Given the description of an element on the screen output the (x, y) to click on. 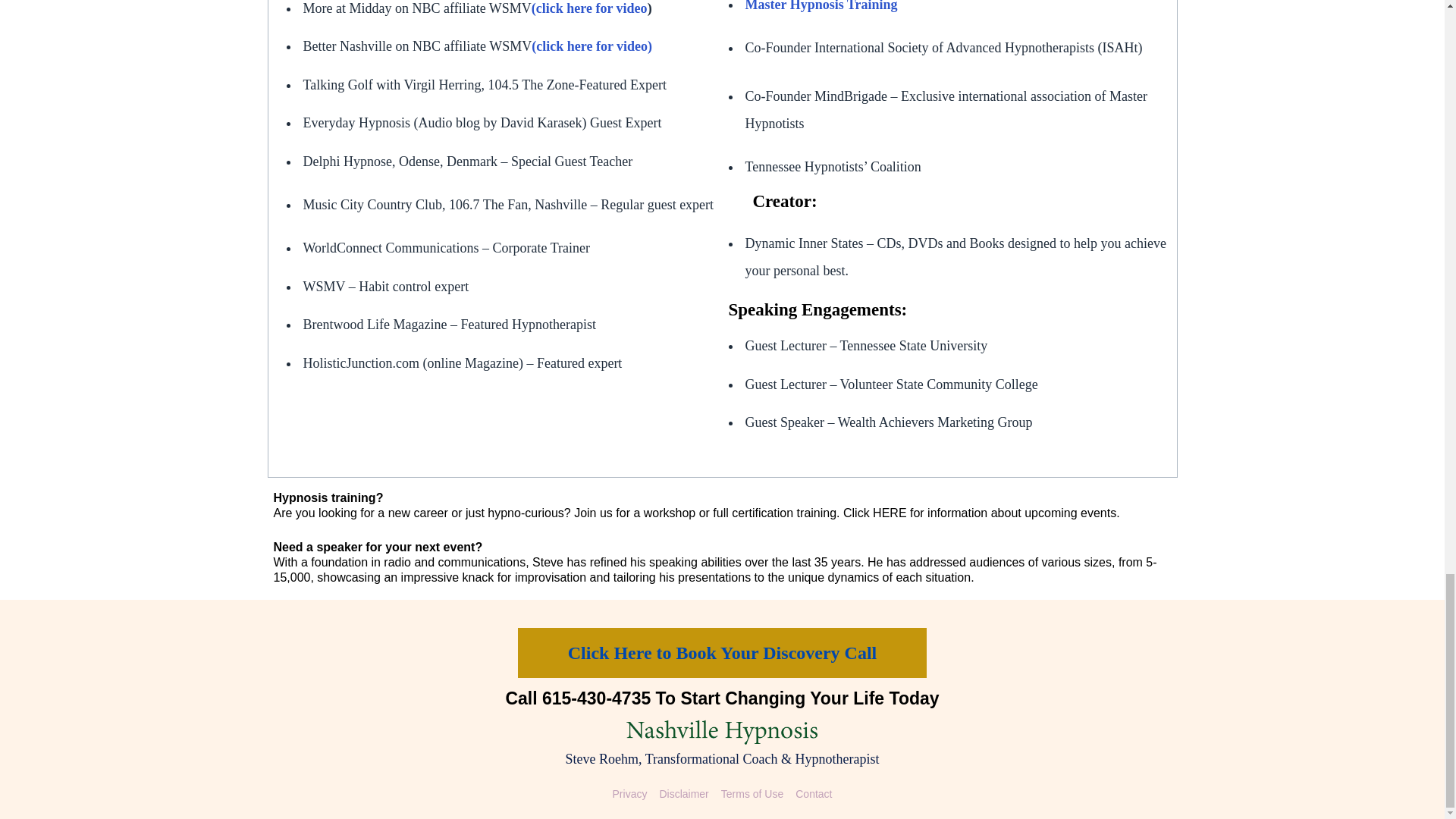
Disclaimer (683, 794)
Contact (813, 794)
Master Hypnosis Training (820, 6)
Privacy (630, 794)
Terms of Use (751, 794)
Click Here to Book Your Discovery Call (722, 653)
HERE (888, 512)
